Given the description of an element on the screen output the (x, y) to click on. 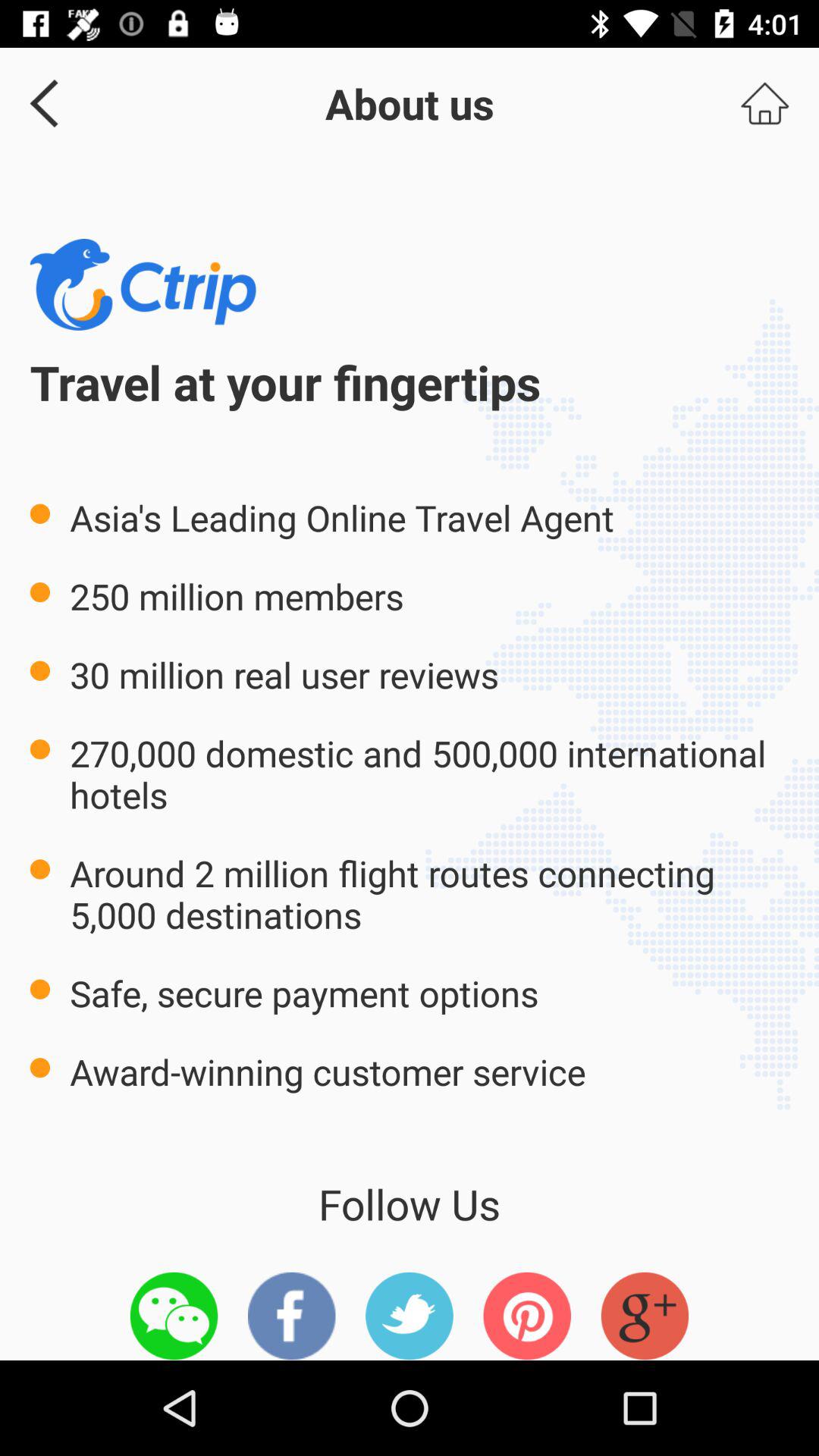
go back (38, 103)
